Given the description of an element on the screen output the (x, y) to click on. 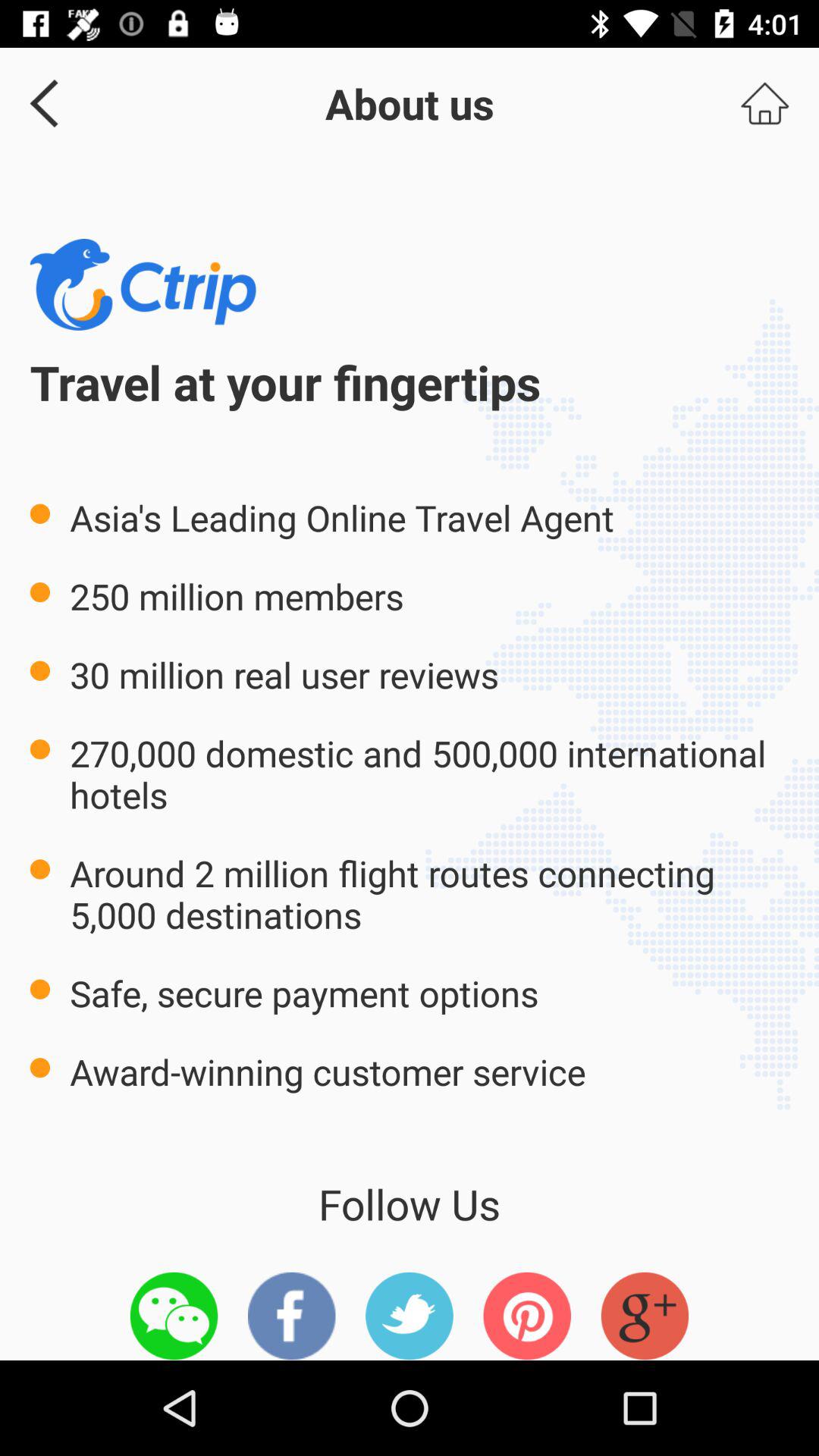
go back (38, 103)
